Given the description of an element on the screen output the (x, y) to click on. 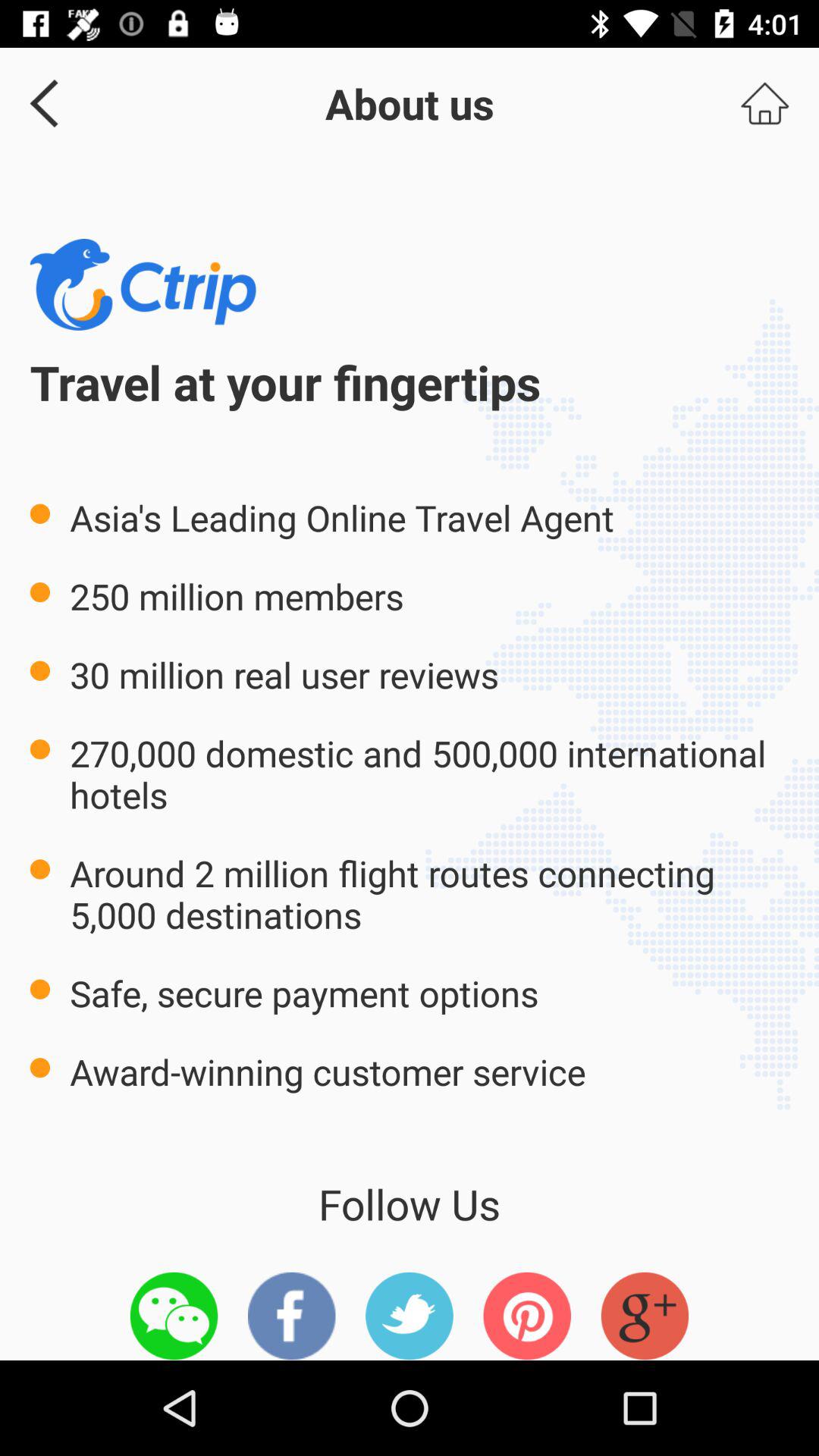
go back (38, 103)
